Given the description of an element on the screen output the (x, y) to click on. 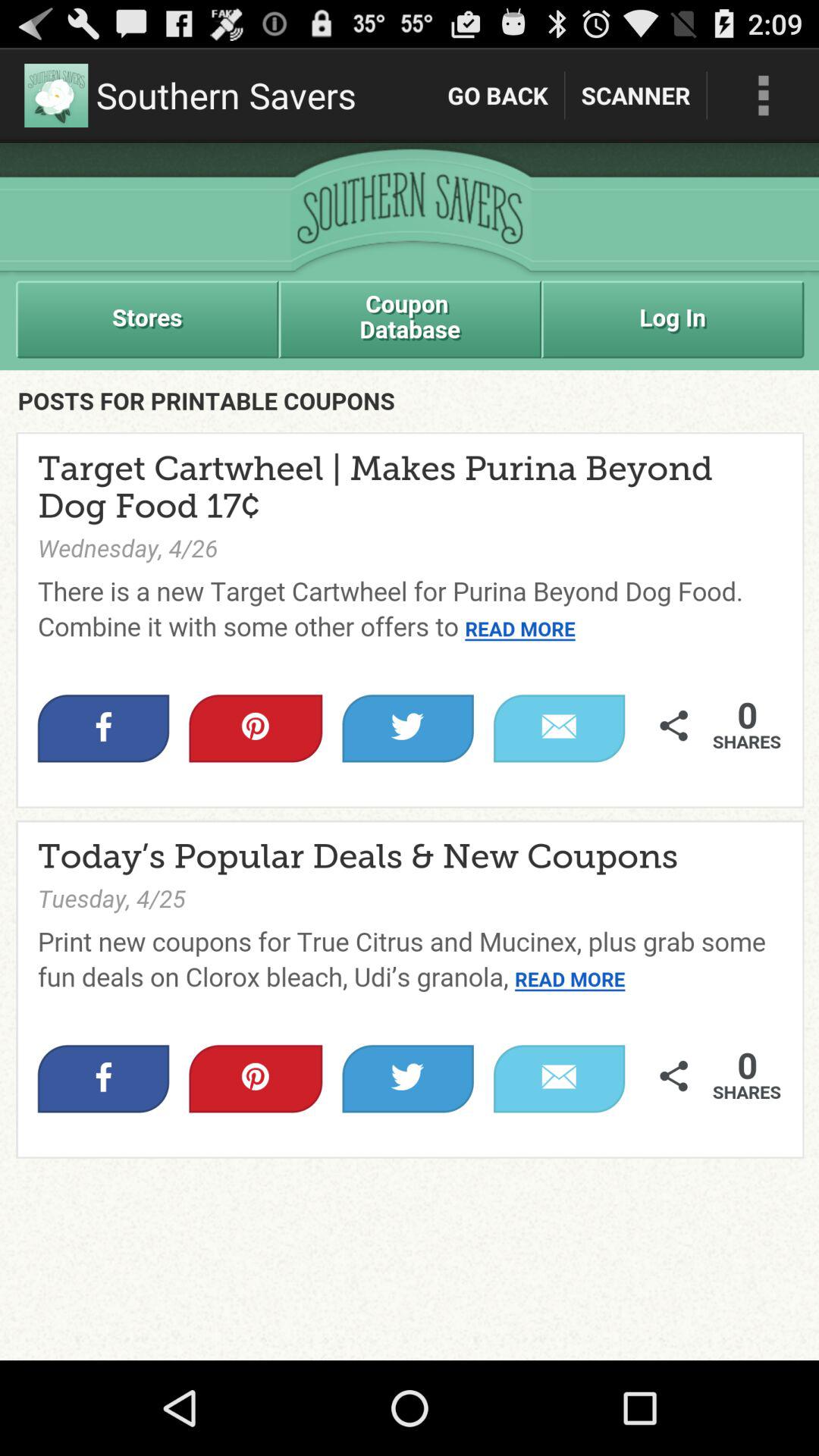
web page (409, 751)
